Given the description of an element on the screen output the (x, y) to click on. 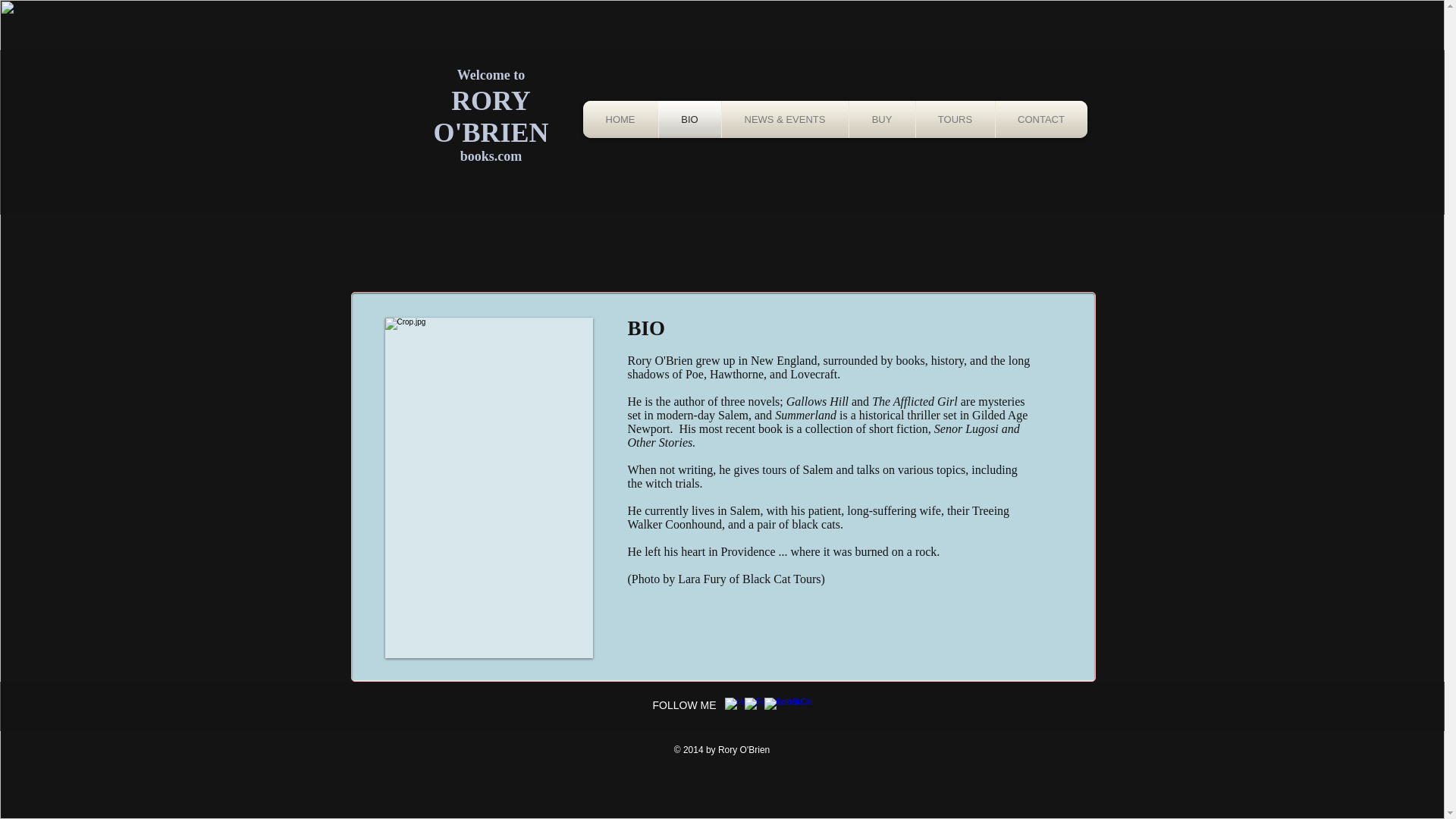
HOME (620, 119)
BUY (881, 119)
TOURS (954, 119)
CONTACT (1040, 119)
BIO (689, 119)
